Given the description of an element on the screen output the (x, y) to click on. 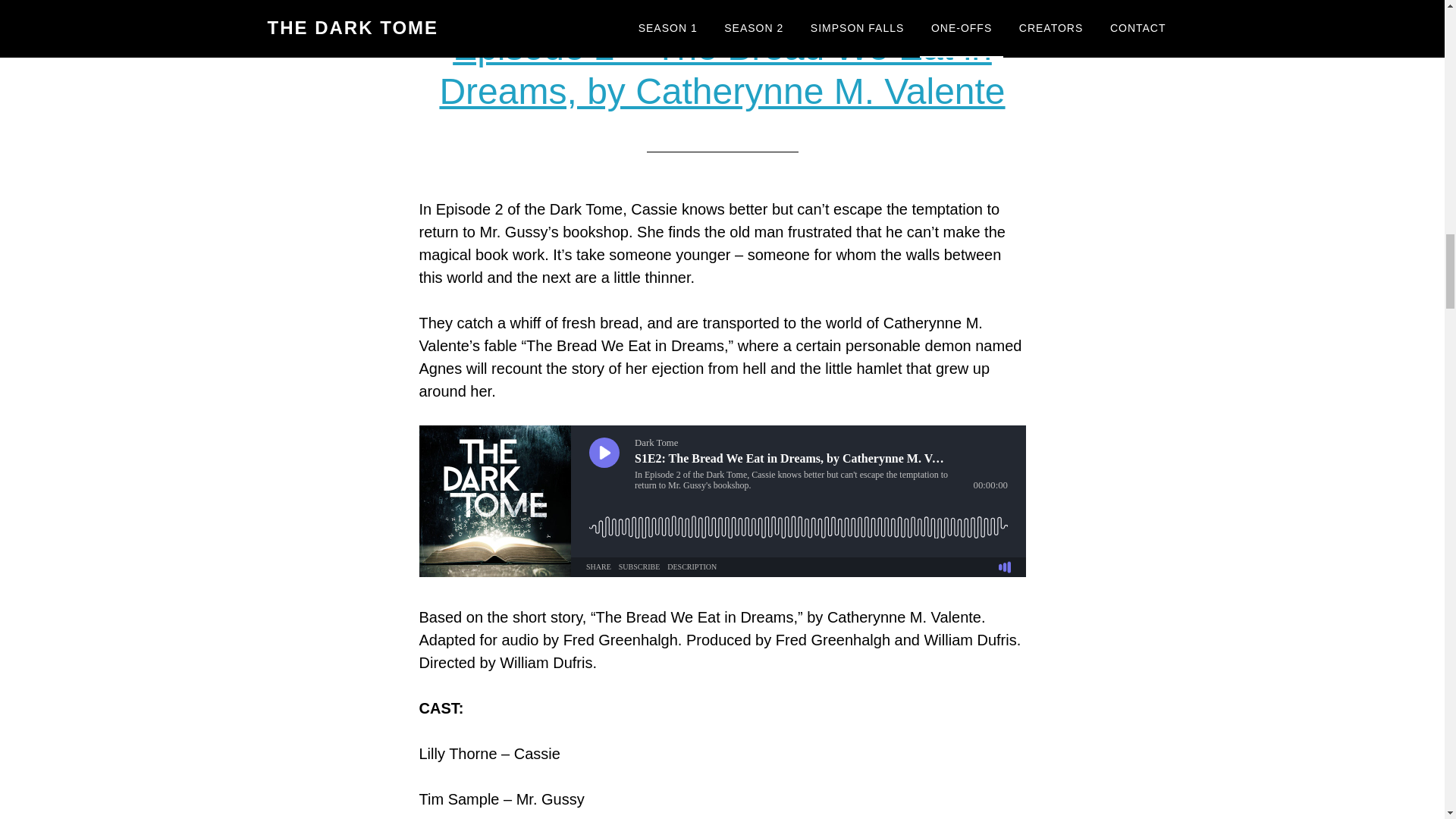
FRED (828, 5)
